Given the description of an element on the screen output the (x, y) to click on. 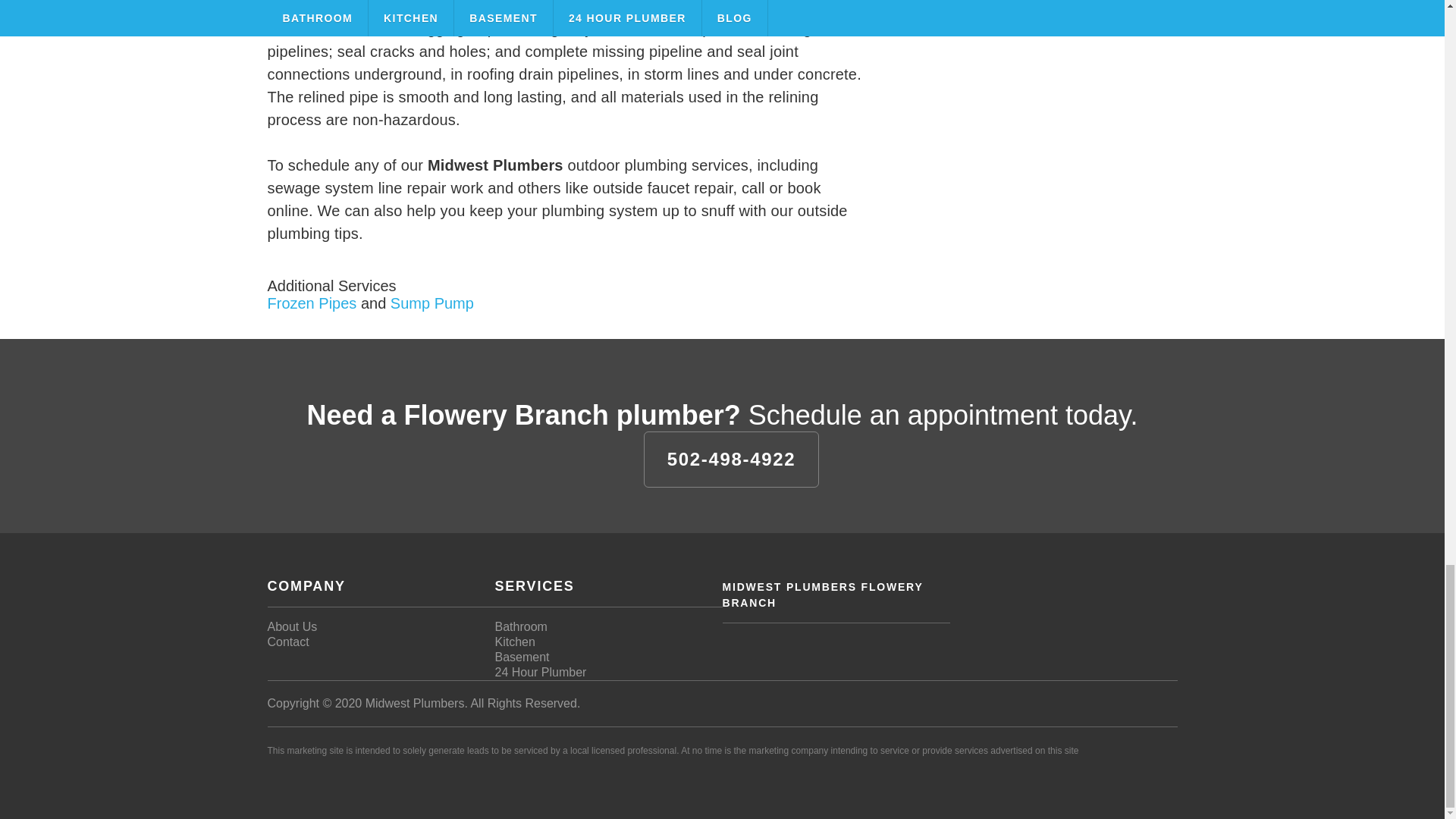
Contact (287, 641)
Basement (521, 656)
About Us (291, 626)
Kitchen (514, 641)
Sump Pump (432, 302)
Bathroom (521, 626)
24 Hour Plumber (540, 671)
502-498-4922 (731, 458)
Frozen Pipes (311, 302)
